Given the description of an element on the screen output the (x, y) to click on. 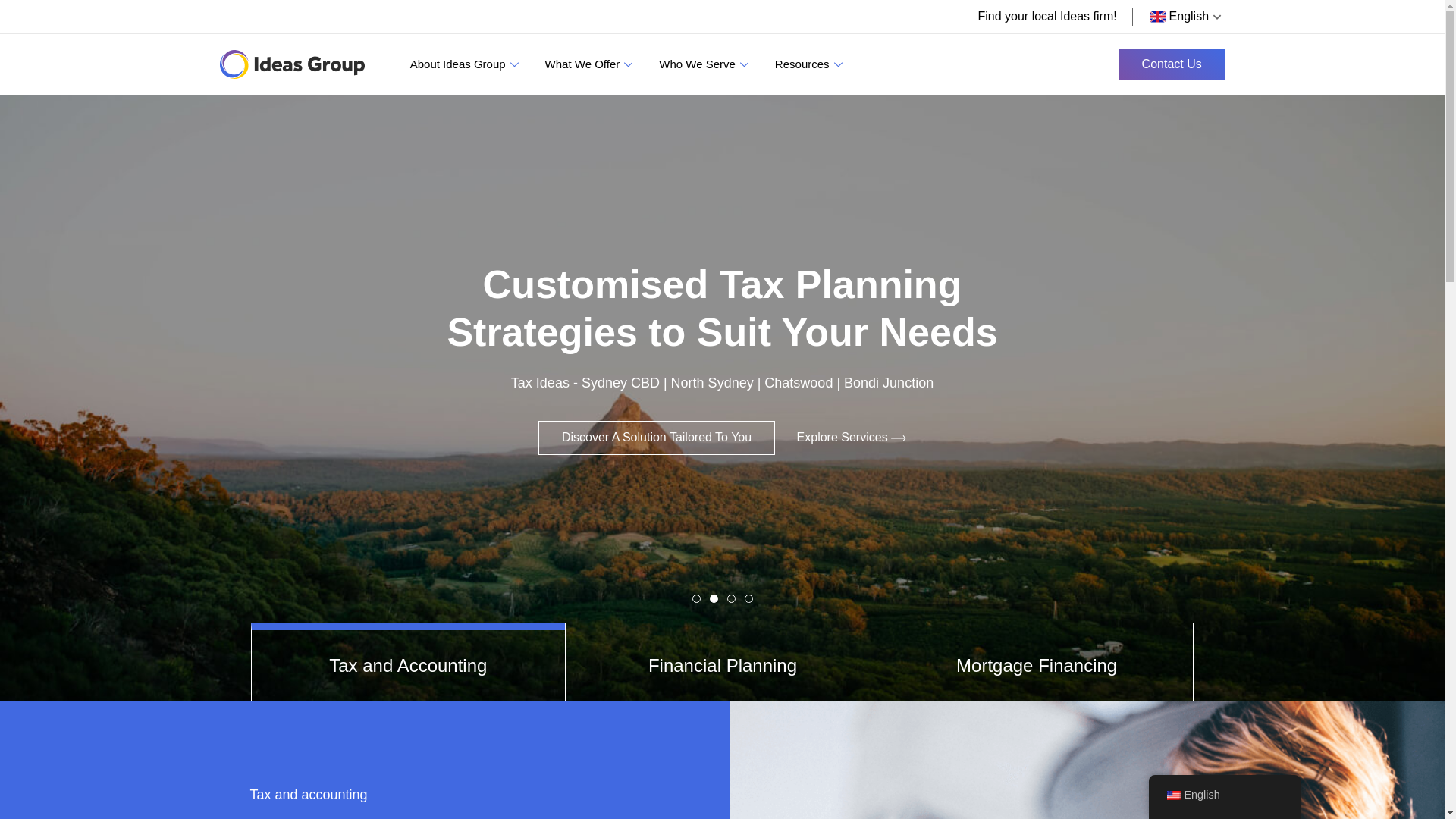
Explore Services Element type: text (851, 479)
Resources Element type: text (810, 64)
Contact Us Element type: text (1171, 64)
Discover A Solution Tailored To You Element type: text (656, 485)
English Element type: text (1180, 15)
What We Offer Element type: text (590, 64)
Find your local Ideas firm! Element type: text (1046, 15)
English Element type: hover (1172, 795)
Who We Serve Element type: text (705, 64)
English Element type: text (1223, 795)
About Ideas Group Element type: text (465, 64)
